Given the description of an element on the screen output the (x, y) to click on. 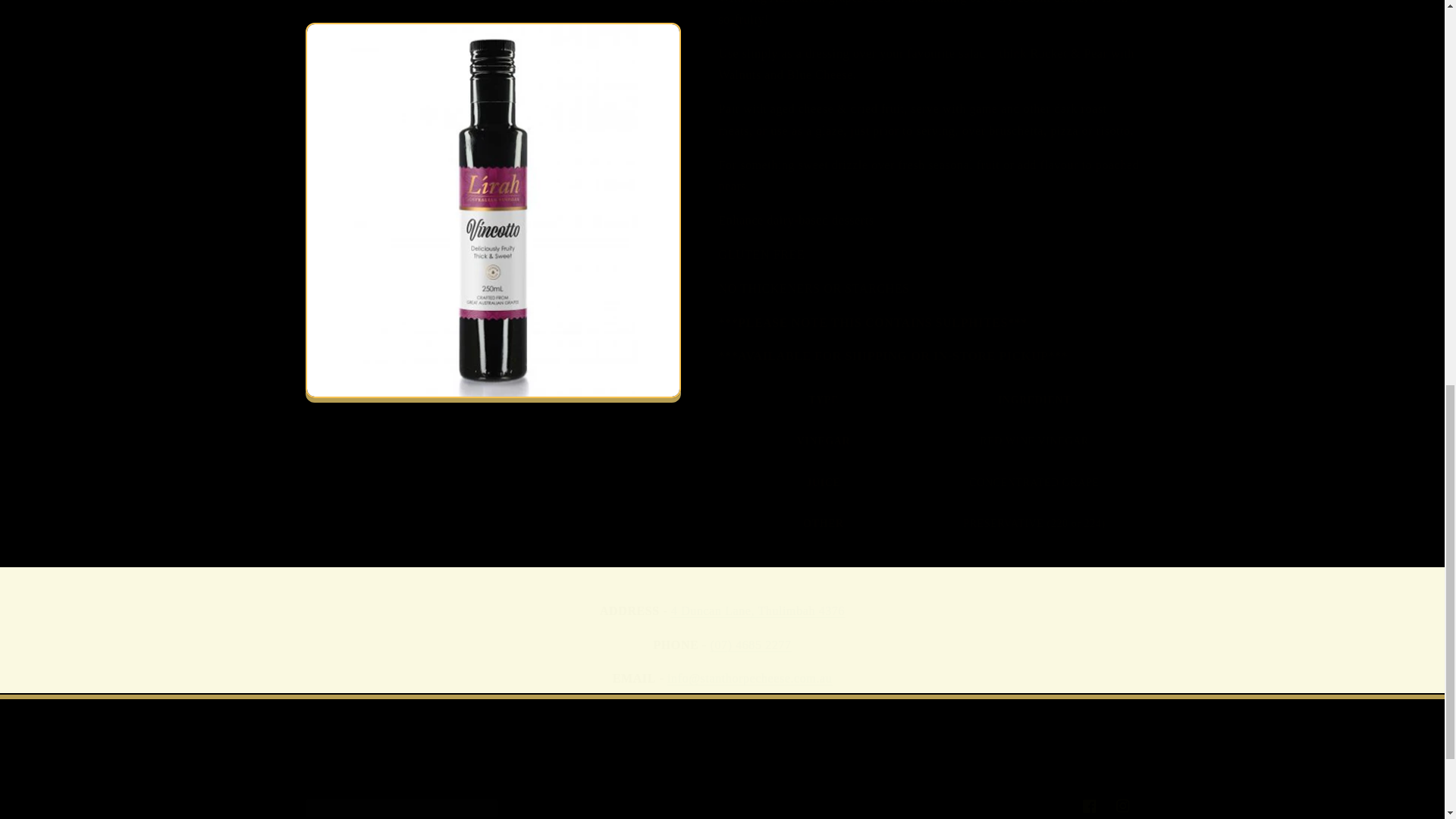
HOME ABOUT CHEESE JERSEY GIRL CAFE SHOP STOCKISTS CONTACT US (721, 753)
HOME ABOUT CHEESE JERSEY GIRL CAFE SHOP STOCKISTS CONTACT US (721, 768)
tel:0746852277 (721, 804)
